Given the description of an element on the screen output the (x, y) to click on. 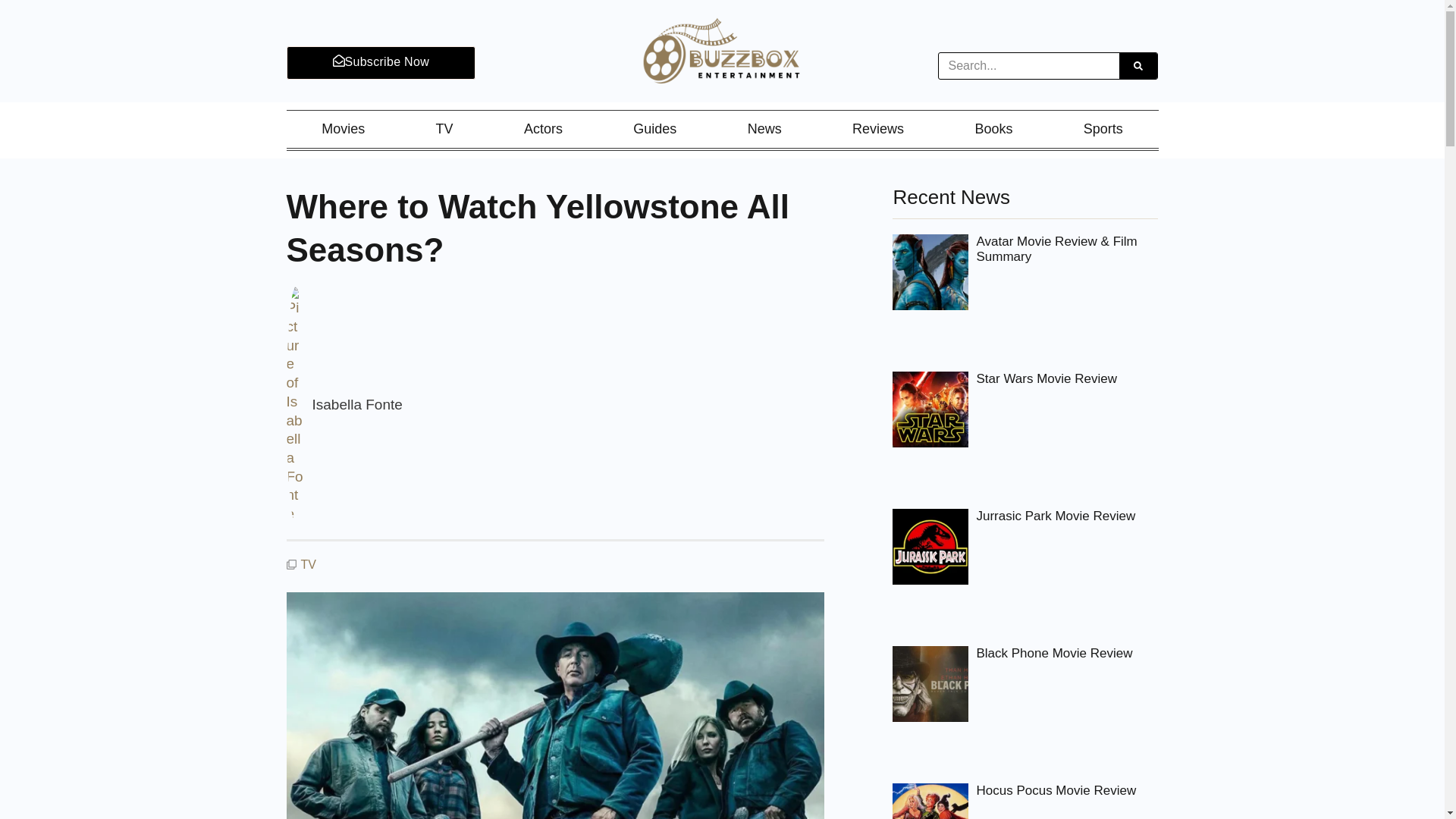
Books (993, 129)
Movies (343, 129)
TV (443, 129)
News (763, 129)
Subscribe Now (381, 62)
Reviews (877, 129)
TV (307, 563)
Actors (541, 129)
Sports (1102, 129)
Guides (654, 129)
